Given the description of an element on the screen output the (x, y) to click on. 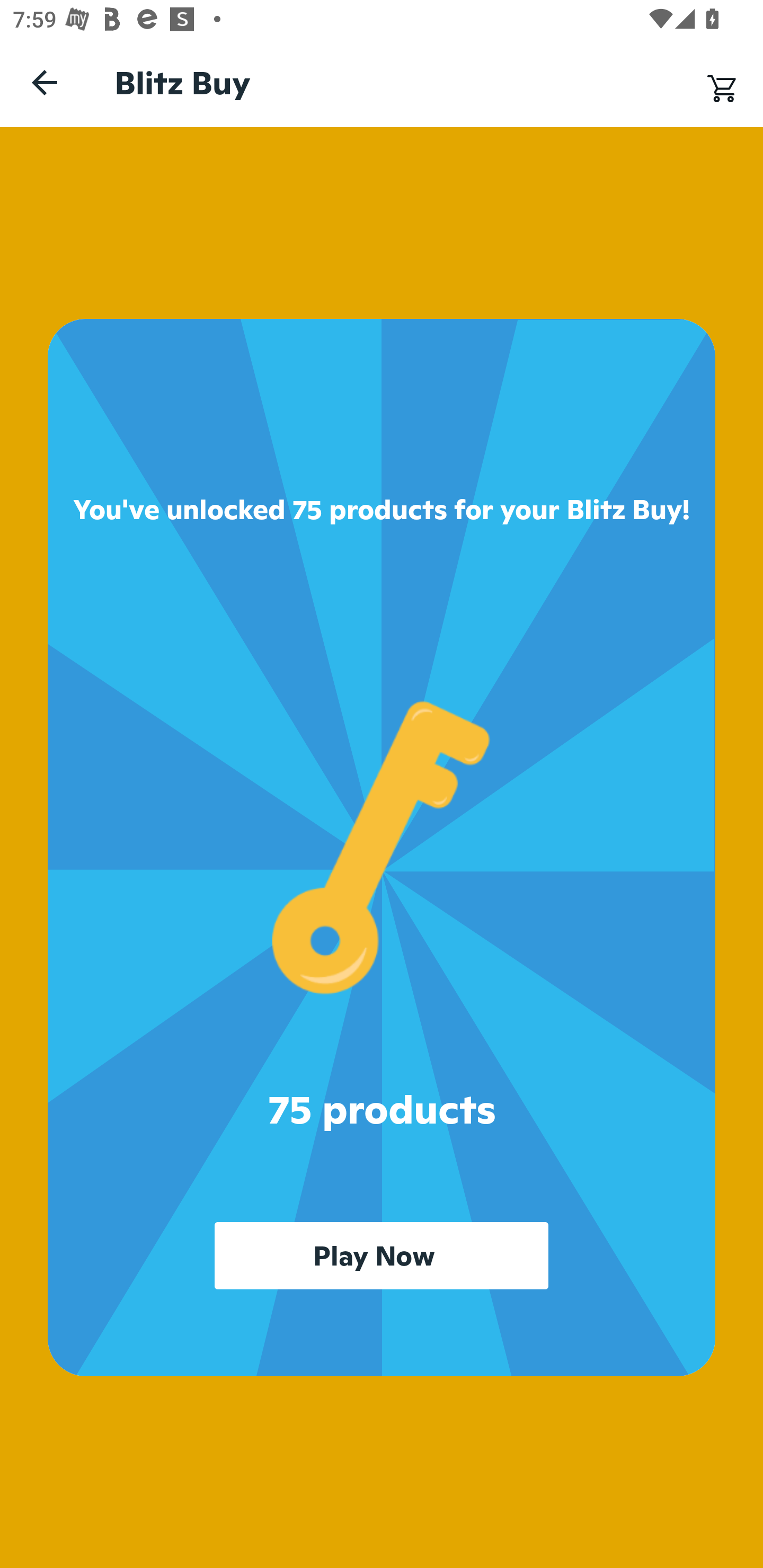
Navigate up (44, 82)
Play Now (381, 1254)
